Given the description of an element on the screen output the (x, y) to click on. 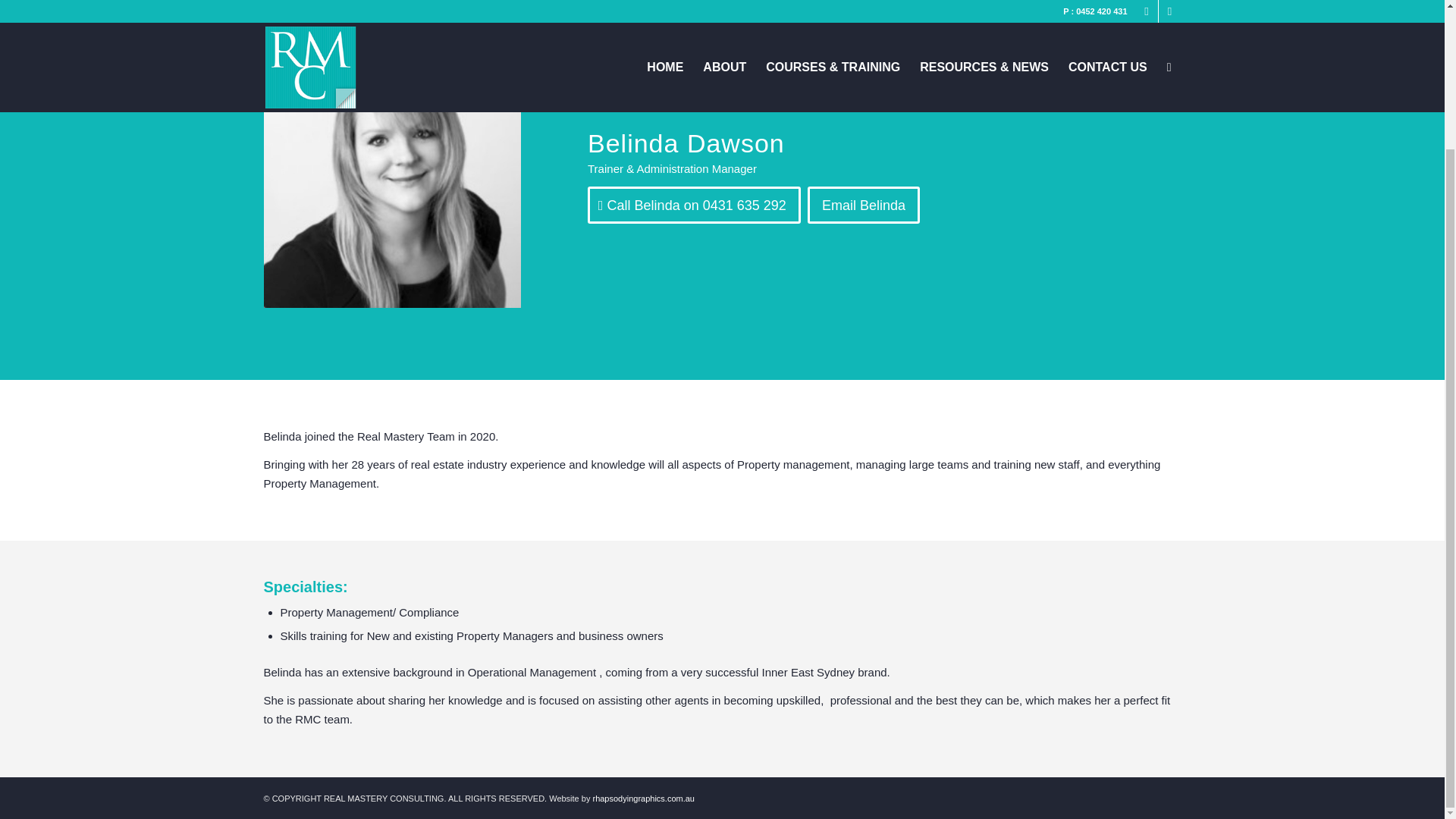
belinda dawson (392, 178)
Call Belinda on 0431 635 292 (694, 205)
rhapsodyingraphics.com.au (643, 798)
Email Belinda (864, 205)
